Given the description of an element on the screen output the (x, y) to click on. 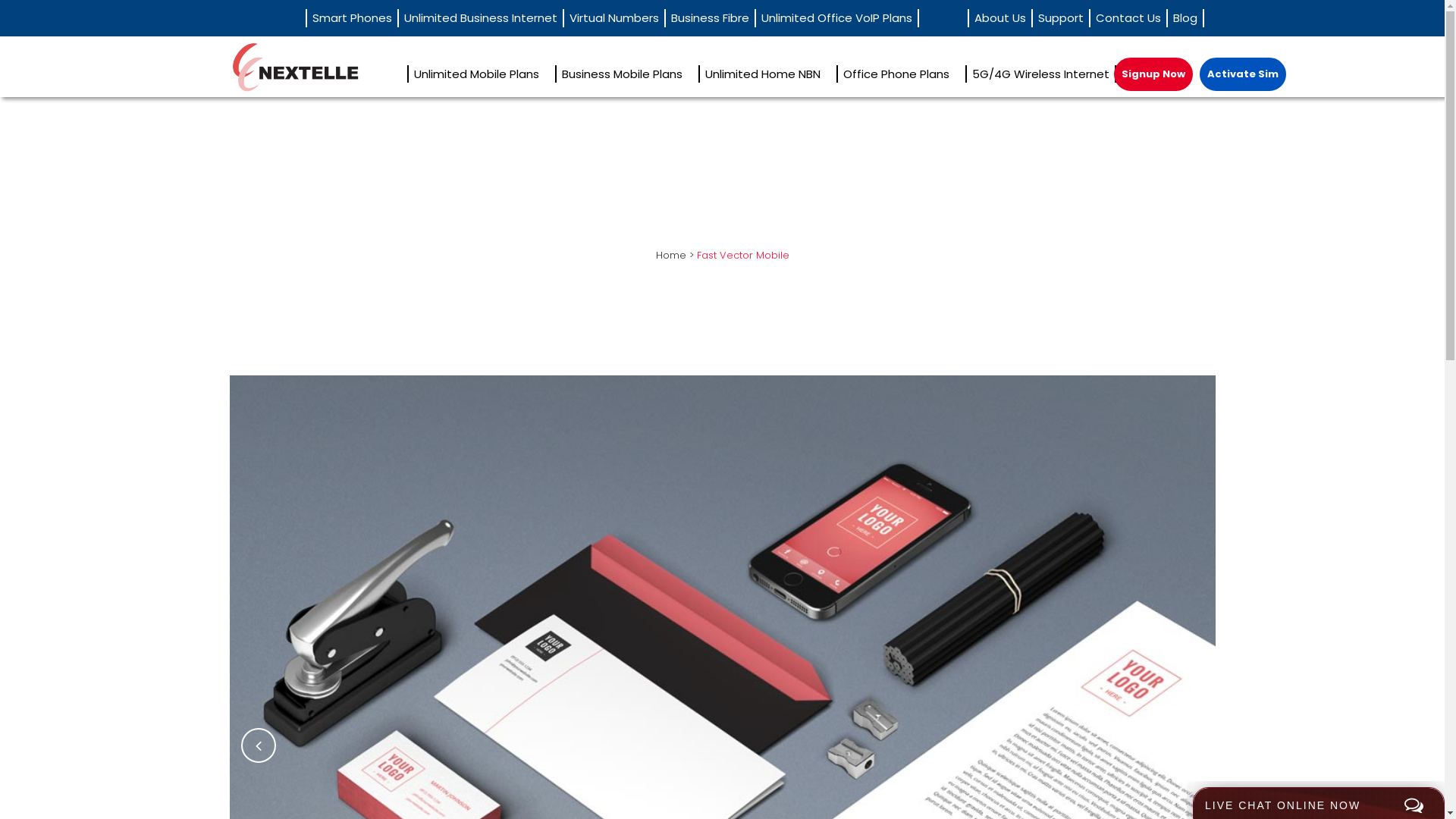
Contact Us Element type: text (1127, 18)
Smart Phones Element type: text (350, 18)
Unlimited Home NBN Element type: text (766, 74)
Unlimited Business Internet Element type: text (479, 18)
Signup Now Element type: text (1152, 74)
Activate Sim Element type: text (1242, 74)
Support Element type: text (1059, 18)
Virtual Numbers Element type: text (613, 18)
Home Element type: text (670, 254)
Unlimited Mobile Plans Element type: text (480, 74)
Business Fibre Element type: text (709, 18)
Business Mobile Plans Element type: text (626, 74)
Blog Element type: text (1185, 18)
Unlimited Office VoIP Plans Element type: text (835, 18)
Office Phone Plans Element type: text (899, 74)
About Us Element type: text (999, 18)
5G/4G Wireless Internet Element type: text (1045, 74)
